Given the description of an element on the screen output the (x, y) to click on. 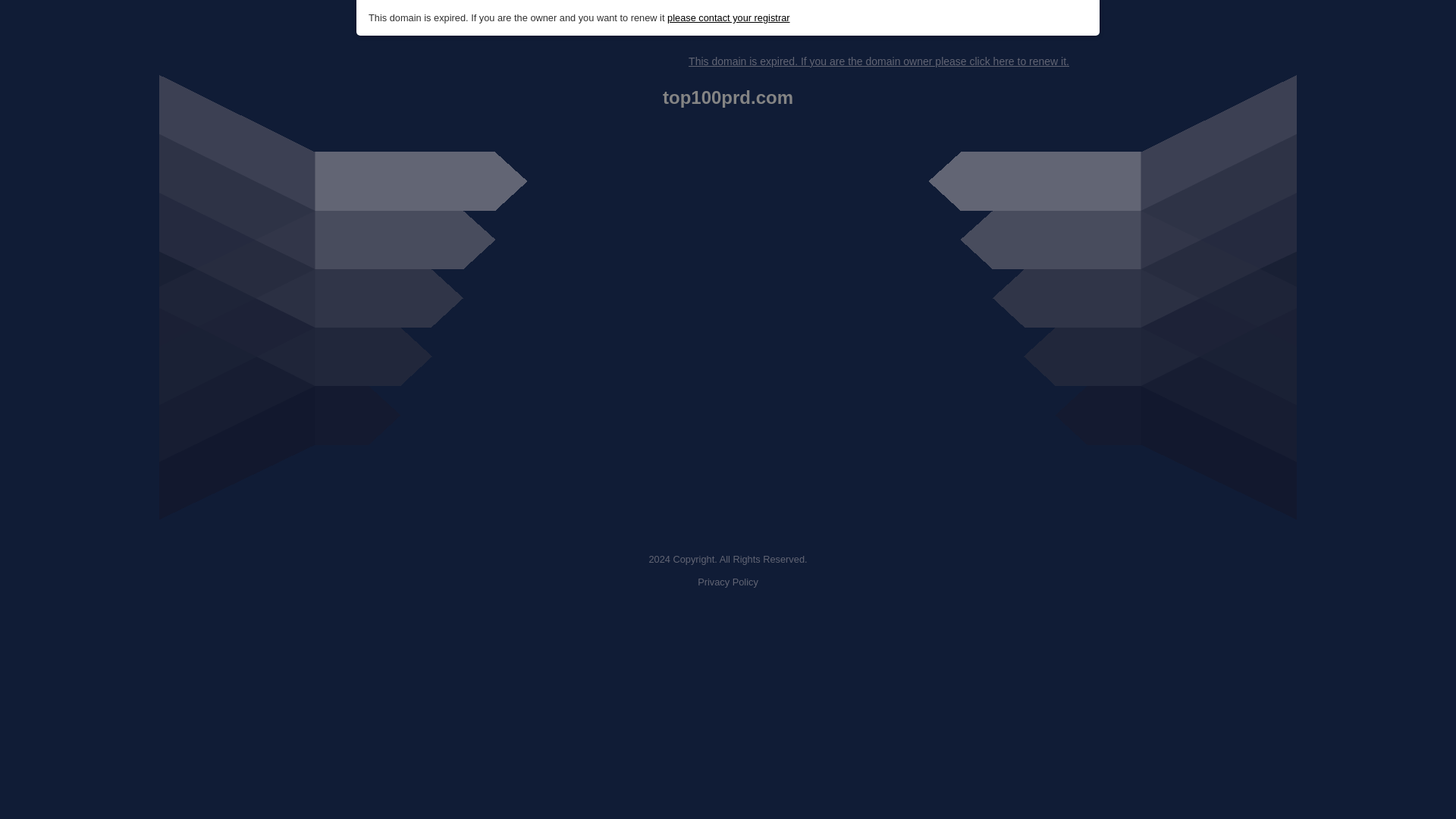
Privacy Policy (727, 582)
please contact your registrar (727, 17)
